Given the description of an element on the screen output the (x, y) to click on. 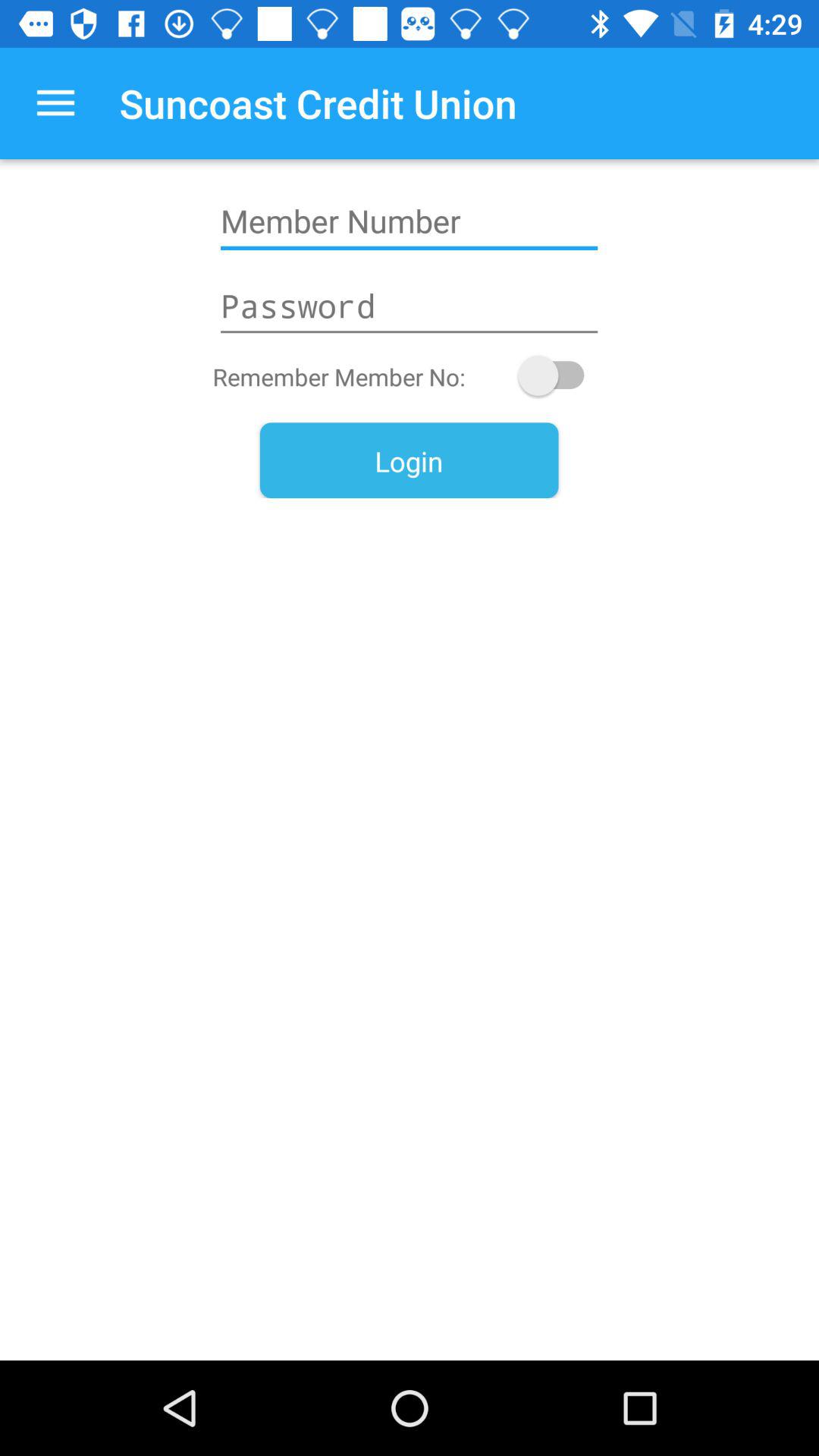
click the item at the top right corner (558, 375)
